Given the description of an element on the screen output the (x, y) to click on. 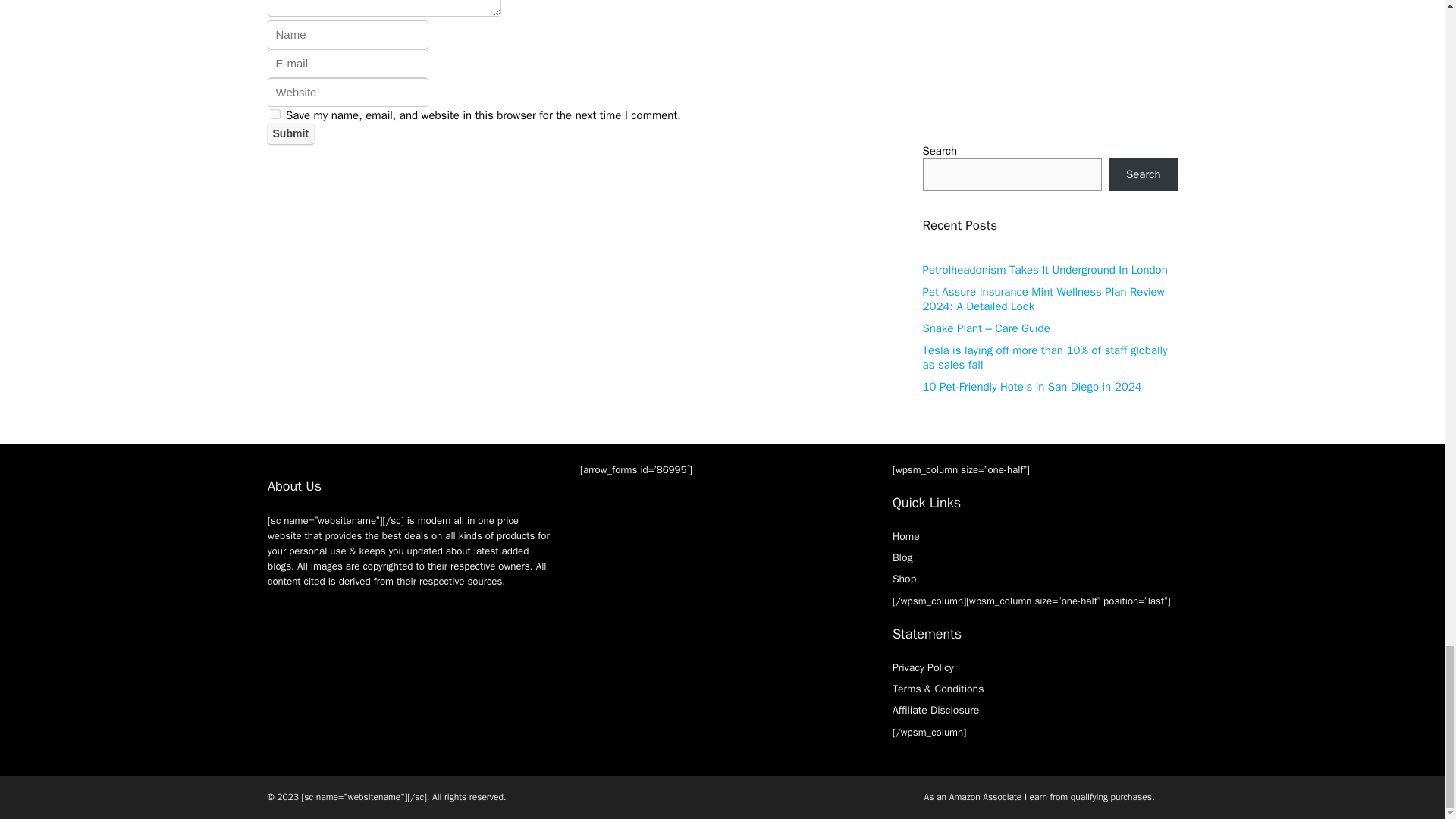
Blog (902, 557)
10 Pet-Friendly Hotels in San Diego in 2024 (1031, 386)
Petrolheadonism Takes It Underground In London (1044, 269)
Privacy Policy (922, 667)
Home (906, 535)
Submit (289, 133)
Submit (289, 133)
Search (1143, 174)
Shop (903, 578)
